Given the description of an element on the screen output the (x, y) to click on. 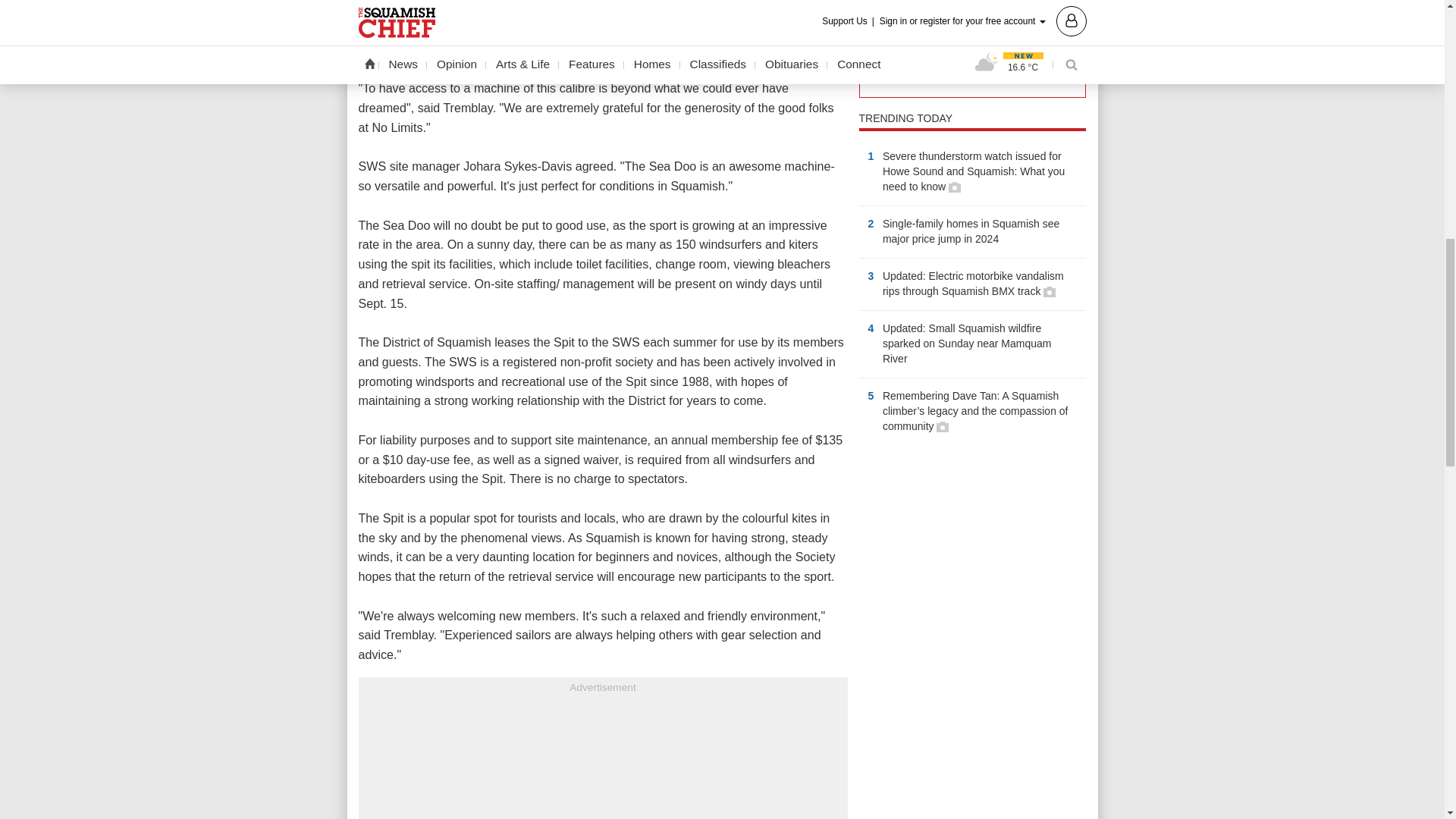
Has a gallery (954, 186)
123399 (872, 11)
123400 (872, 32)
Has a gallery (1049, 291)
Has a gallery (942, 426)
